Given the description of an element on the screen output the (x, y) to click on. 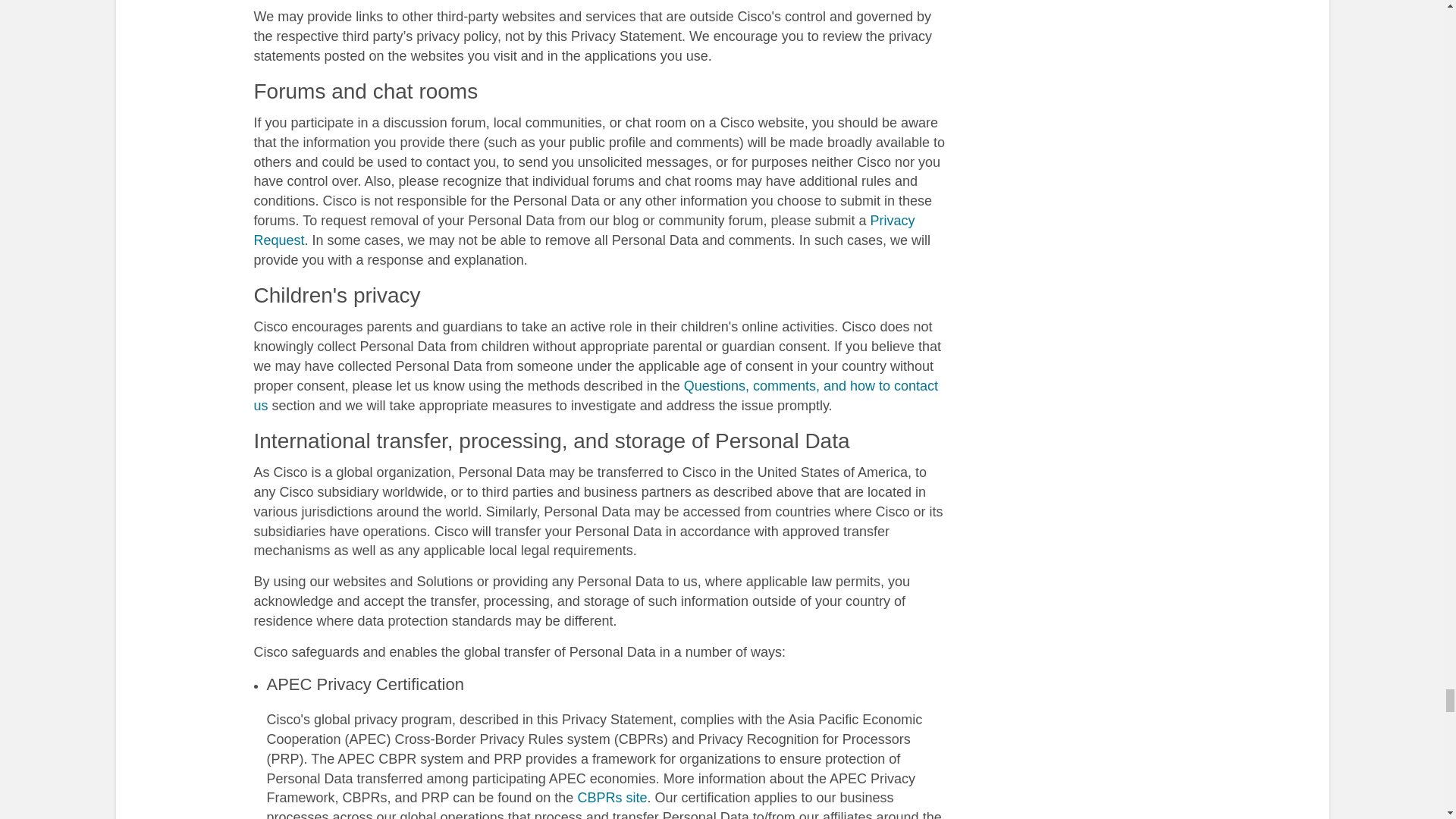
CBPRs site (611, 797)
Questions, comments, and how to contact us (595, 395)
Privacy Request (583, 230)
